Given the description of an element on the screen output the (x, y) to click on. 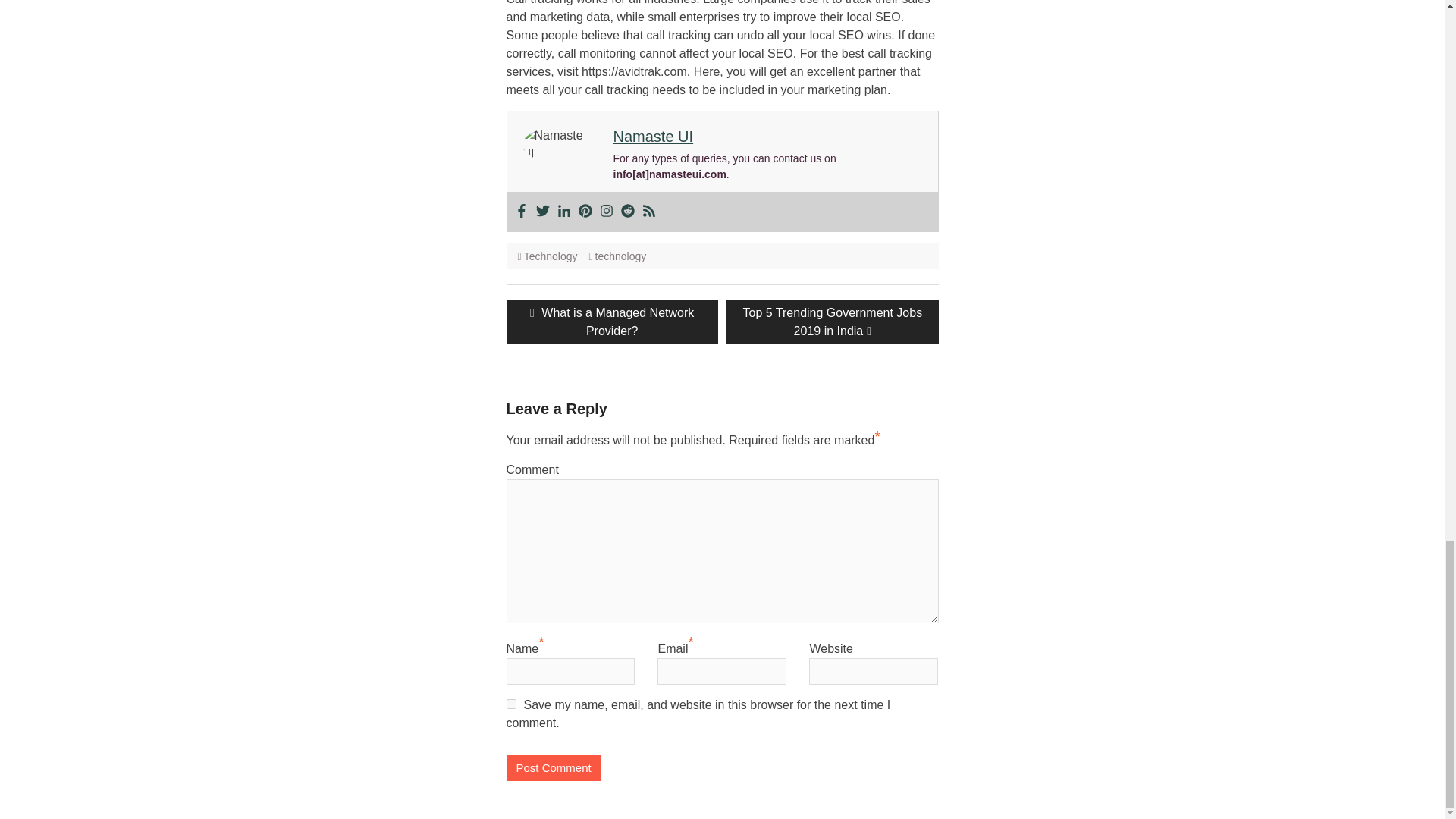
Post Comment (553, 768)
yes (511, 704)
